Given the description of an element on the screen output the (x, y) to click on. 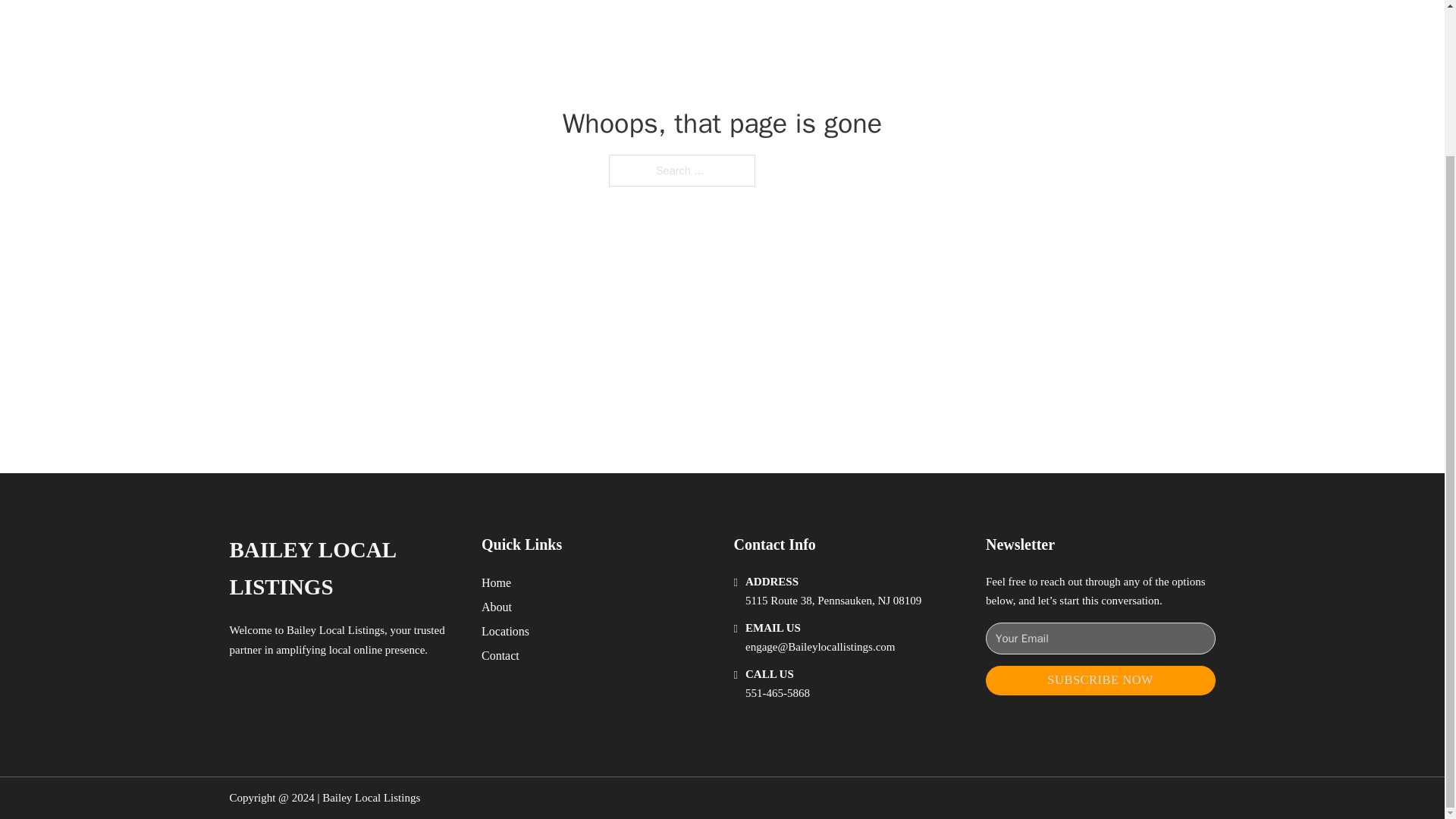
Home (496, 582)
About (496, 607)
Contact (500, 655)
BAILEY LOCAL LISTINGS (343, 568)
SUBSCRIBE NOW (1100, 680)
551-465-5868 (777, 693)
Locations (505, 630)
